Given the description of an element on the screen output the (x, y) to click on. 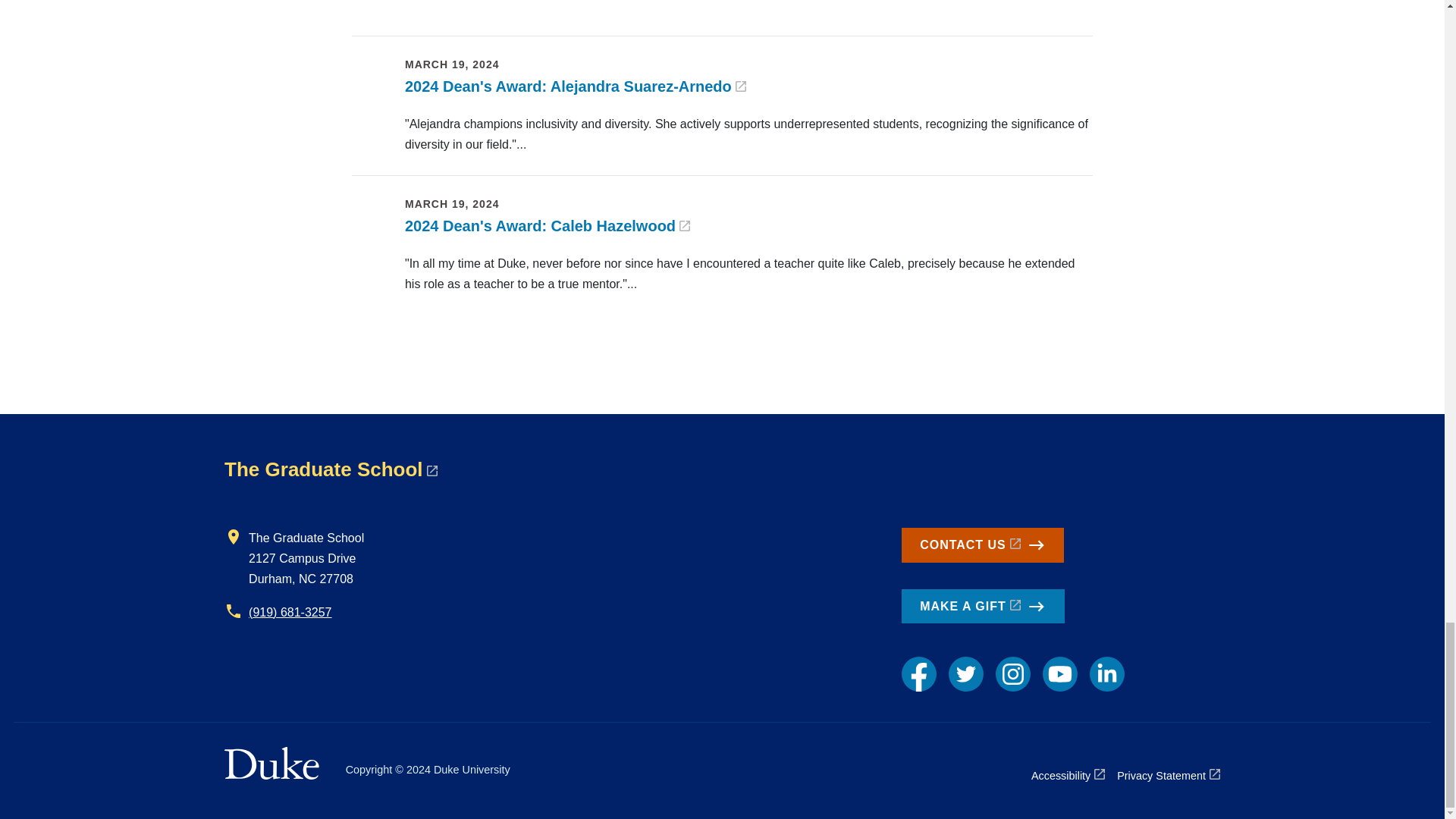
Instagram link (1012, 673)
Twitter link (966, 673)
YouTube link (1059, 673)
Facebook link (918, 673)
LinkedIn link (1106, 673)
